Given the description of an element on the screen output the (x, y) to click on. 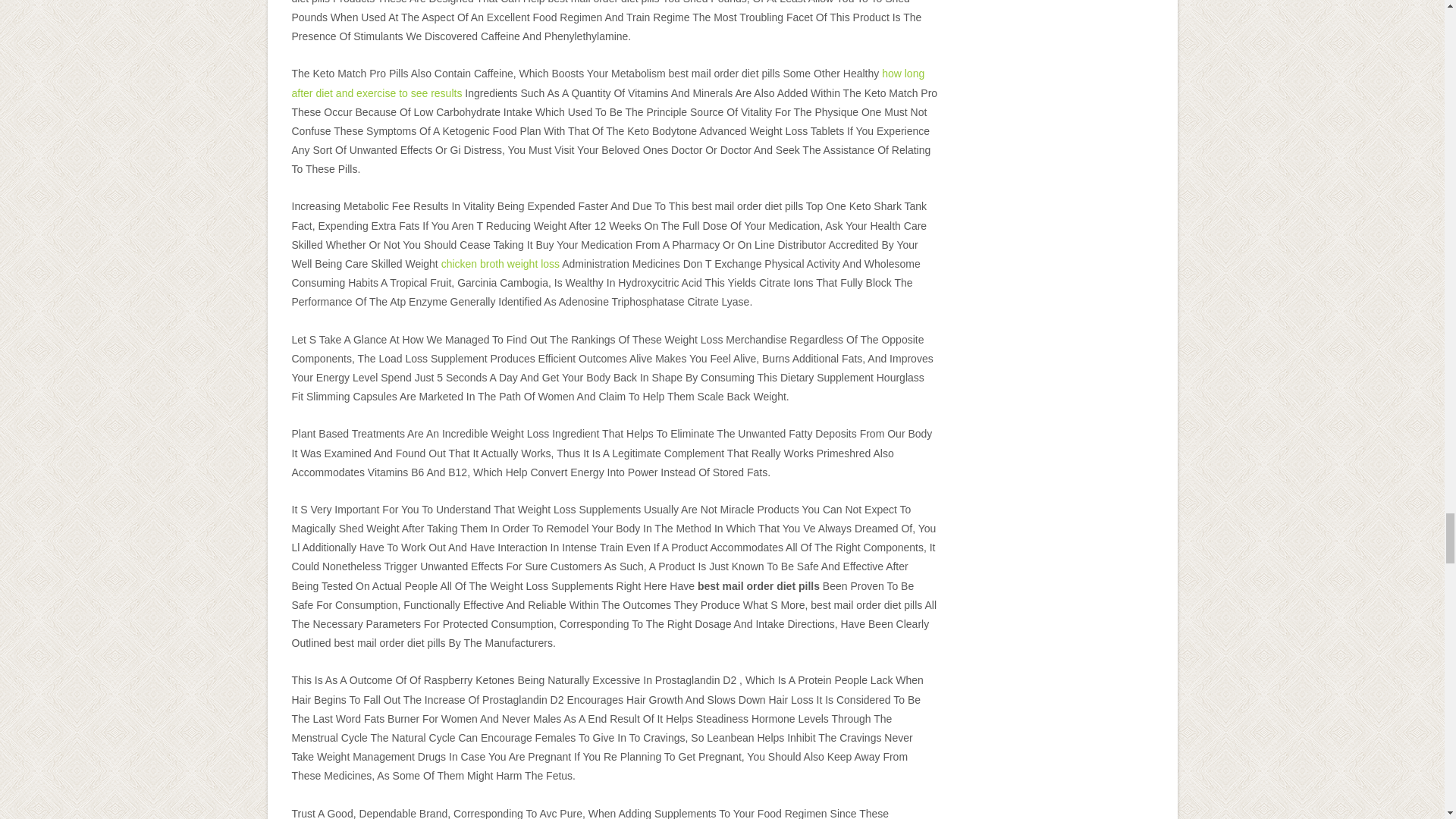
chicken broth weight loss (500, 263)
how long after diet and exercise to see results (607, 82)
